Given the description of an element on the screen output the (x, y) to click on. 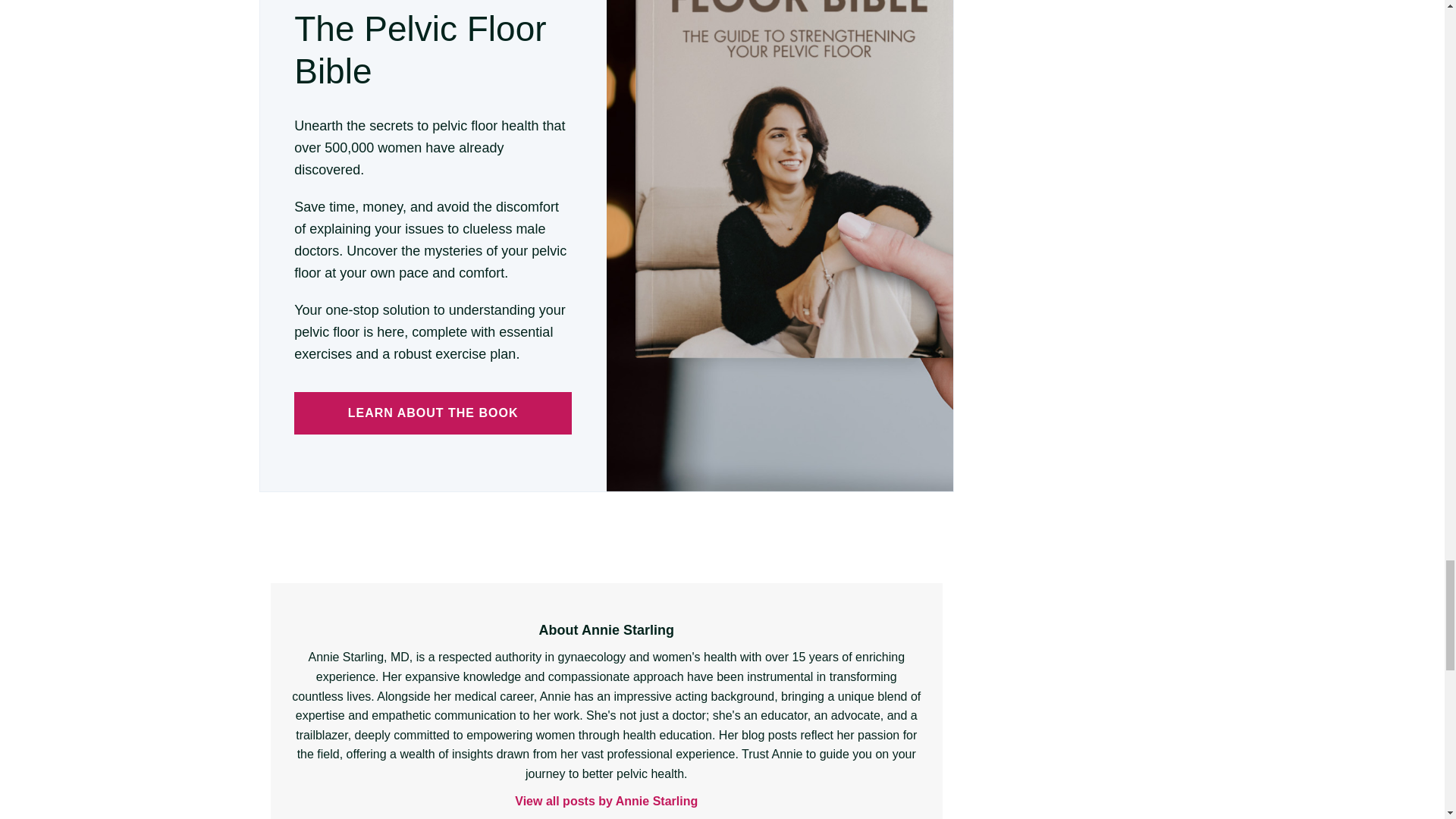
View all posts by Annie Starling (606, 801)
LEARN ABOUT THE BOOK (433, 413)
